Given the description of an element on the screen output the (x, y) to click on. 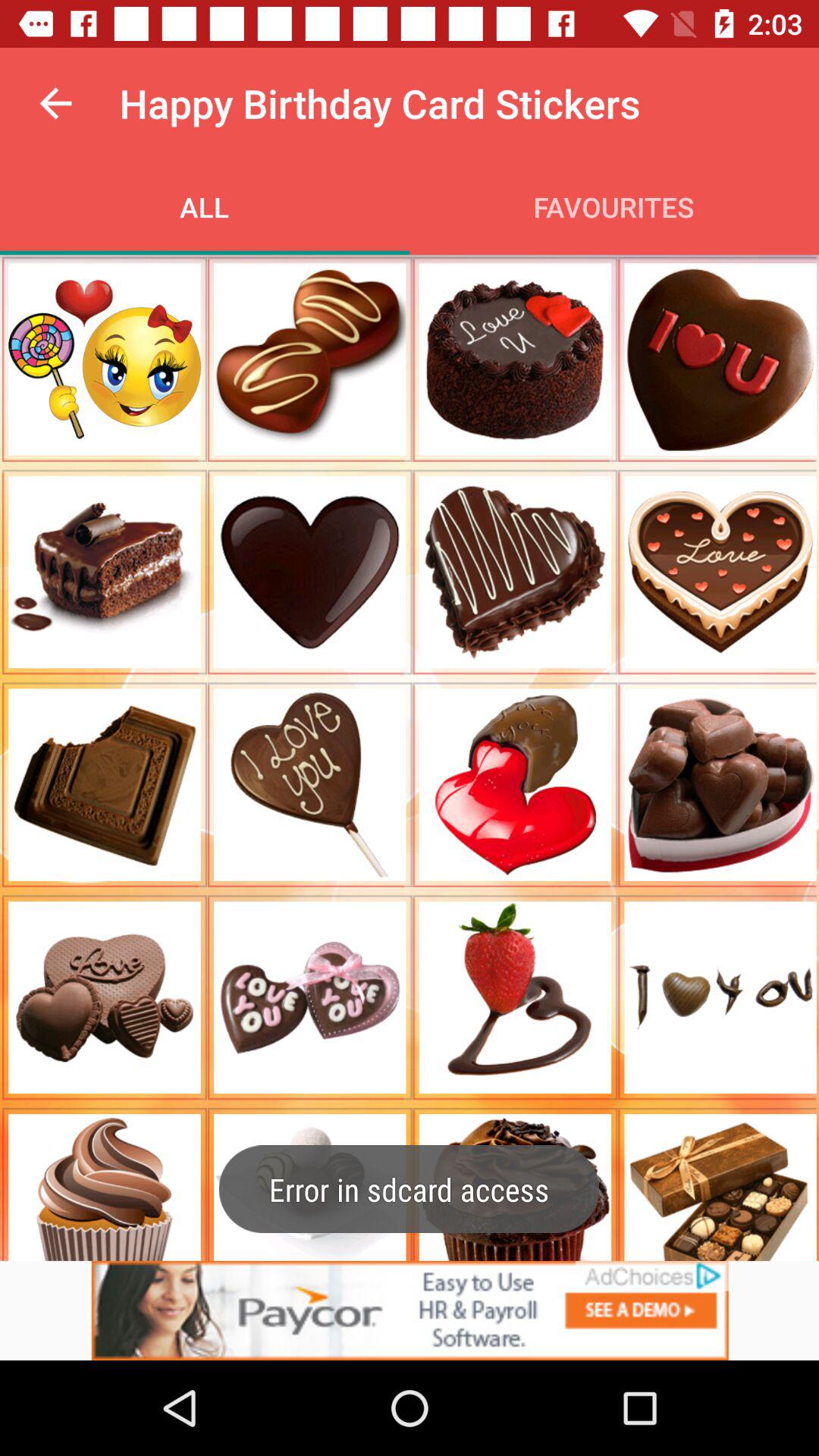
view advertisement (409, 1310)
